Given the description of an element on the screen output the (x, y) to click on. 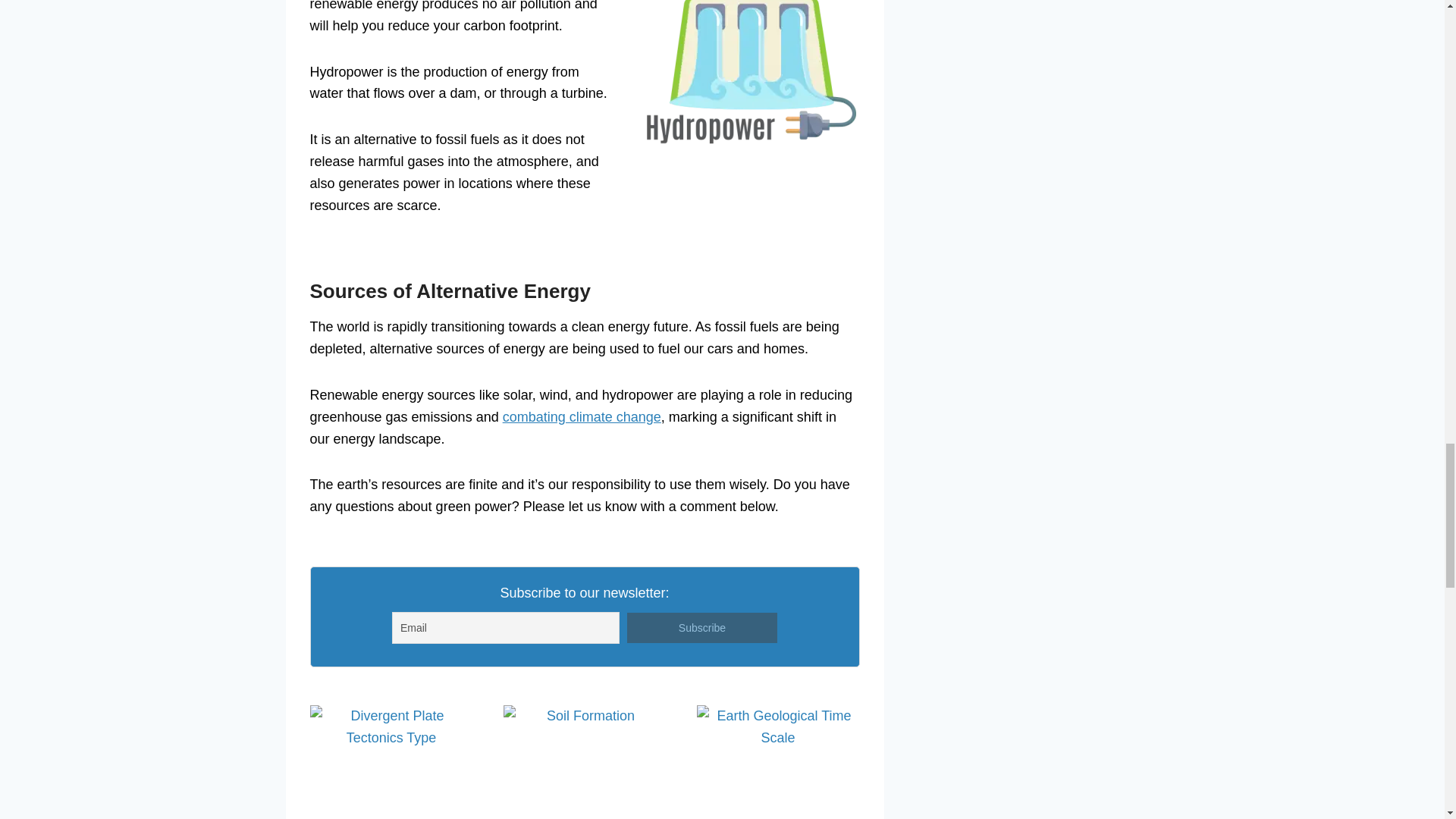
Subscribe (702, 627)
Subscribe (702, 627)
combating climate change (581, 417)
